Given the description of an element on the screen output the (x, y) to click on. 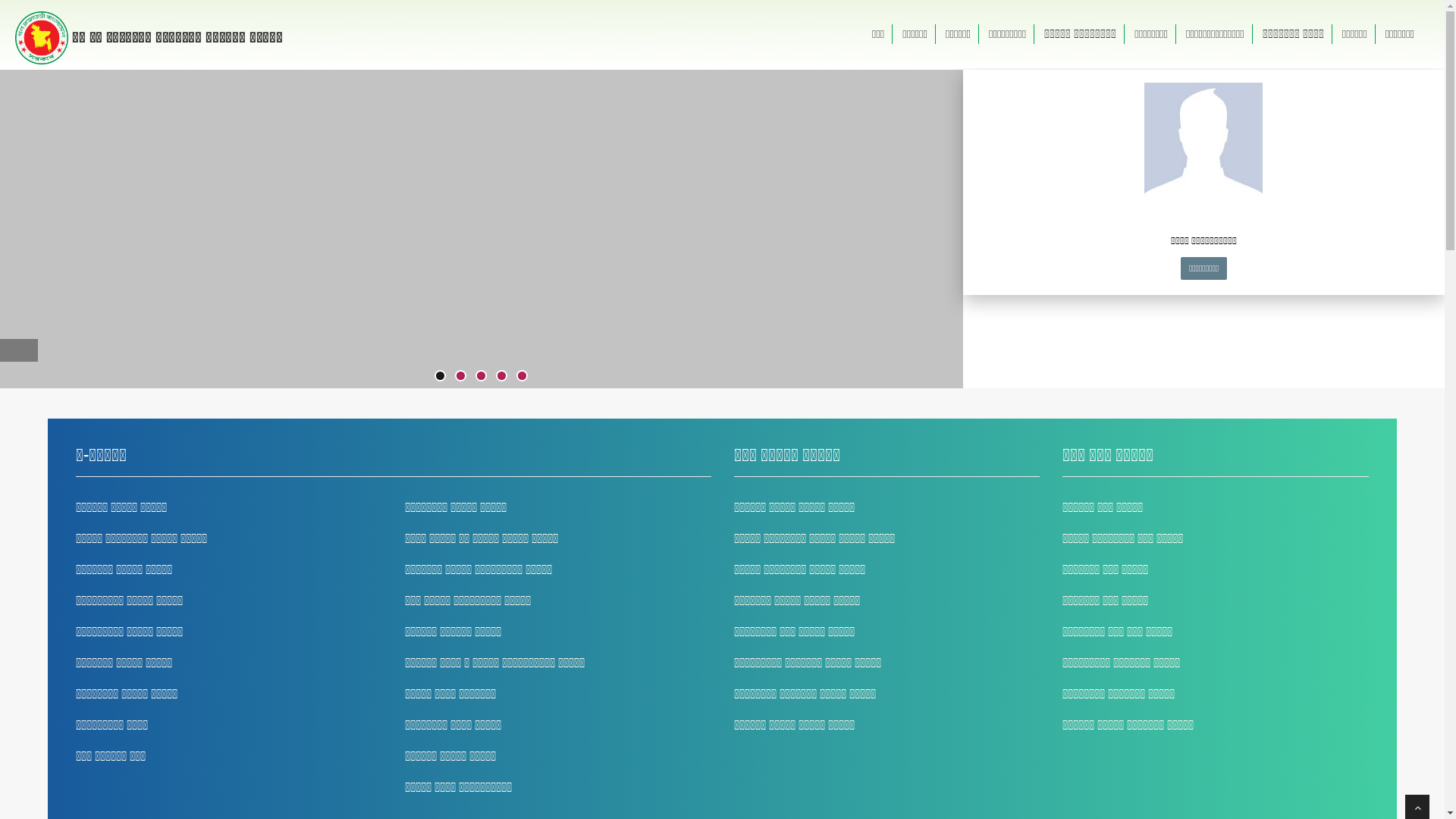
5 Element type: text (521, 375)
2 Element type: text (460, 375)
3 Element type: text (480, 375)
1 Element type: text (440, 375)
4 Element type: text (501, 375)
